Given the description of an element on the screen output the (x, y) to click on. 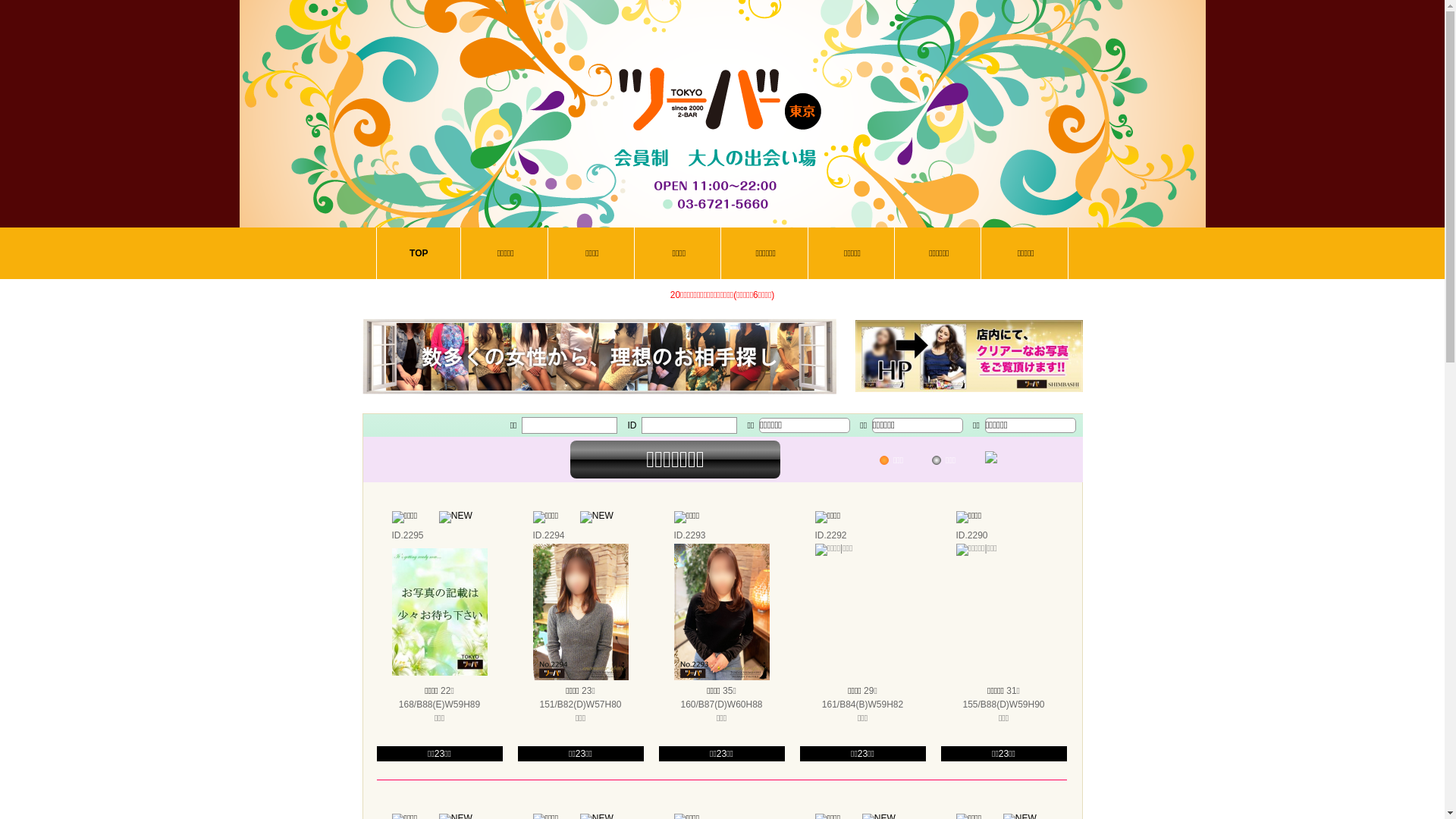
TOP Element type: text (418, 252)
